Given the description of an element on the screen output the (x, y) to click on. 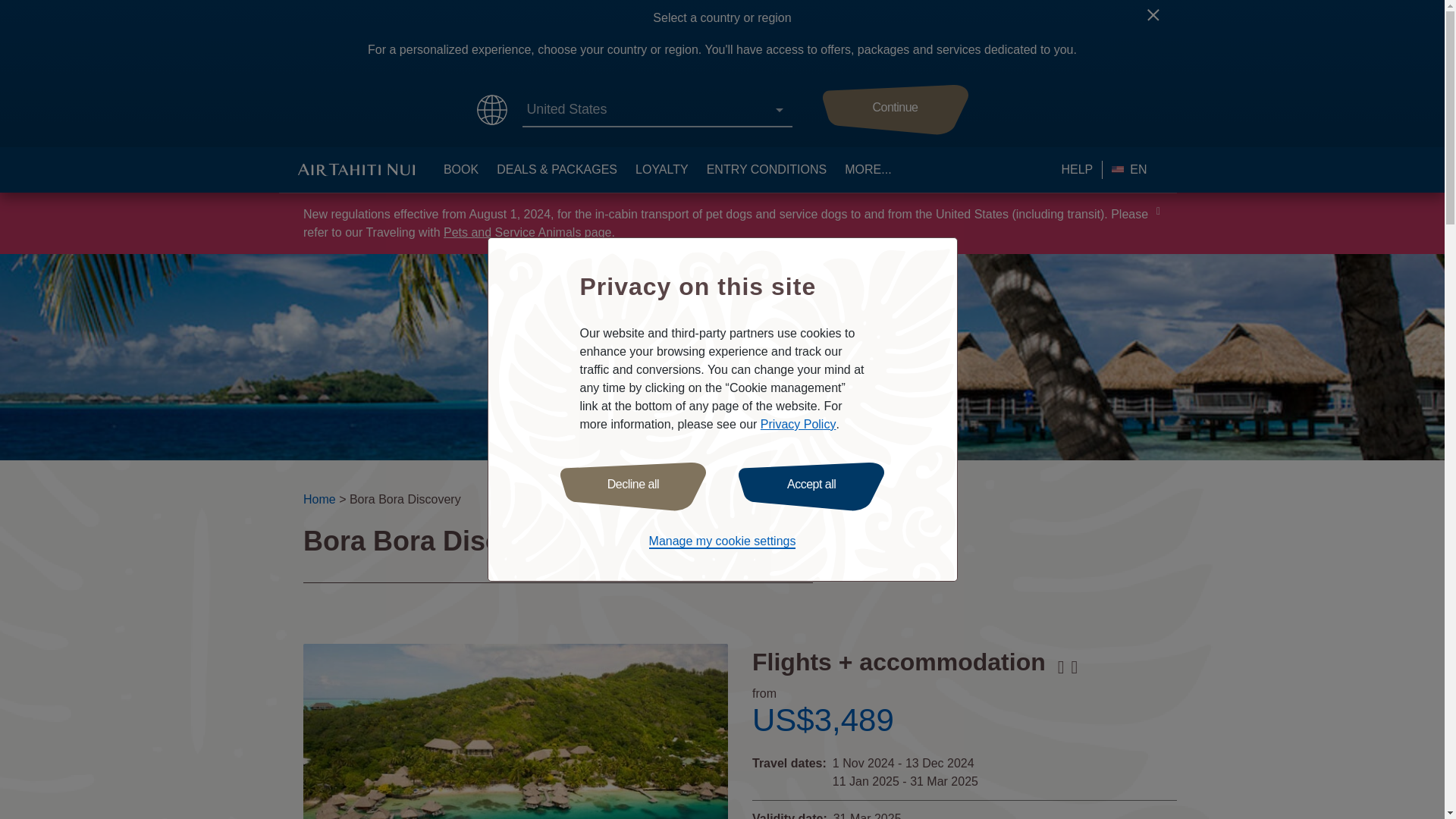
Close (1158, 21)
Close (1158, 21)
MORE... (867, 169)
Aerial view of Maitai Polynesia Bora Bora  (515, 731)
BOOK (461, 169)
LOYALTY (661, 169)
Continue (895, 110)
Sign in (406, 562)
Continue (895, 110)
ENTRY CONDITIONS (766, 169)
